Given the description of an element on the screen output the (x, y) to click on. 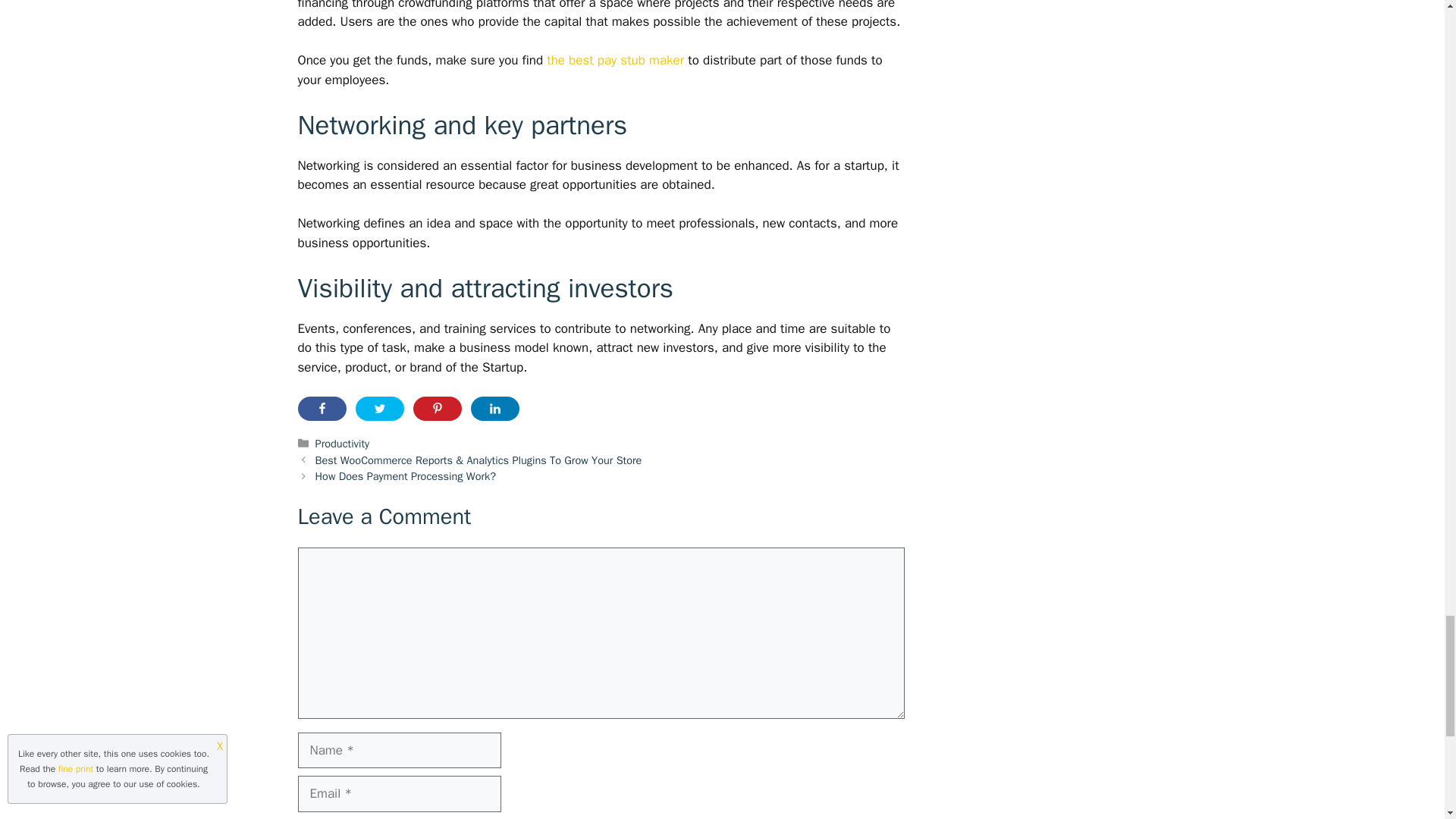
How Does Payment Processing Work? (405, 476)
Share on LinkedIn (494, 408)
Share on Twitter (379, 408)
Share on Facebook (321, 408)
Productivity (342, 443)
Share on Pinterest (436, 408)
the best pay stub maker (615, 59)
